Given the description of an element on the screen output the (x, y) to click on. 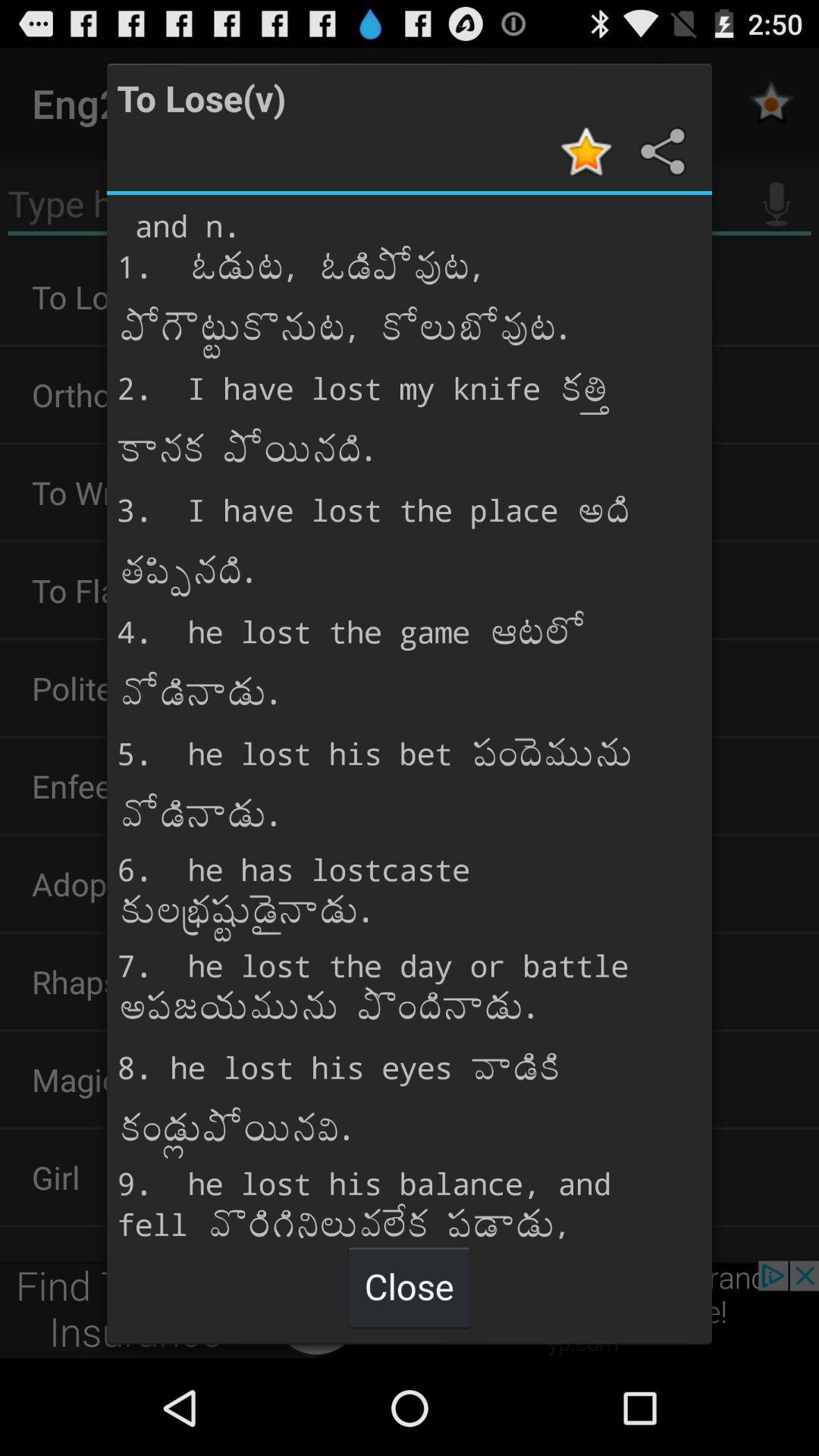
launch close (408, 1286)
